Given the description of an element on the screen output the (x, y) to click on. 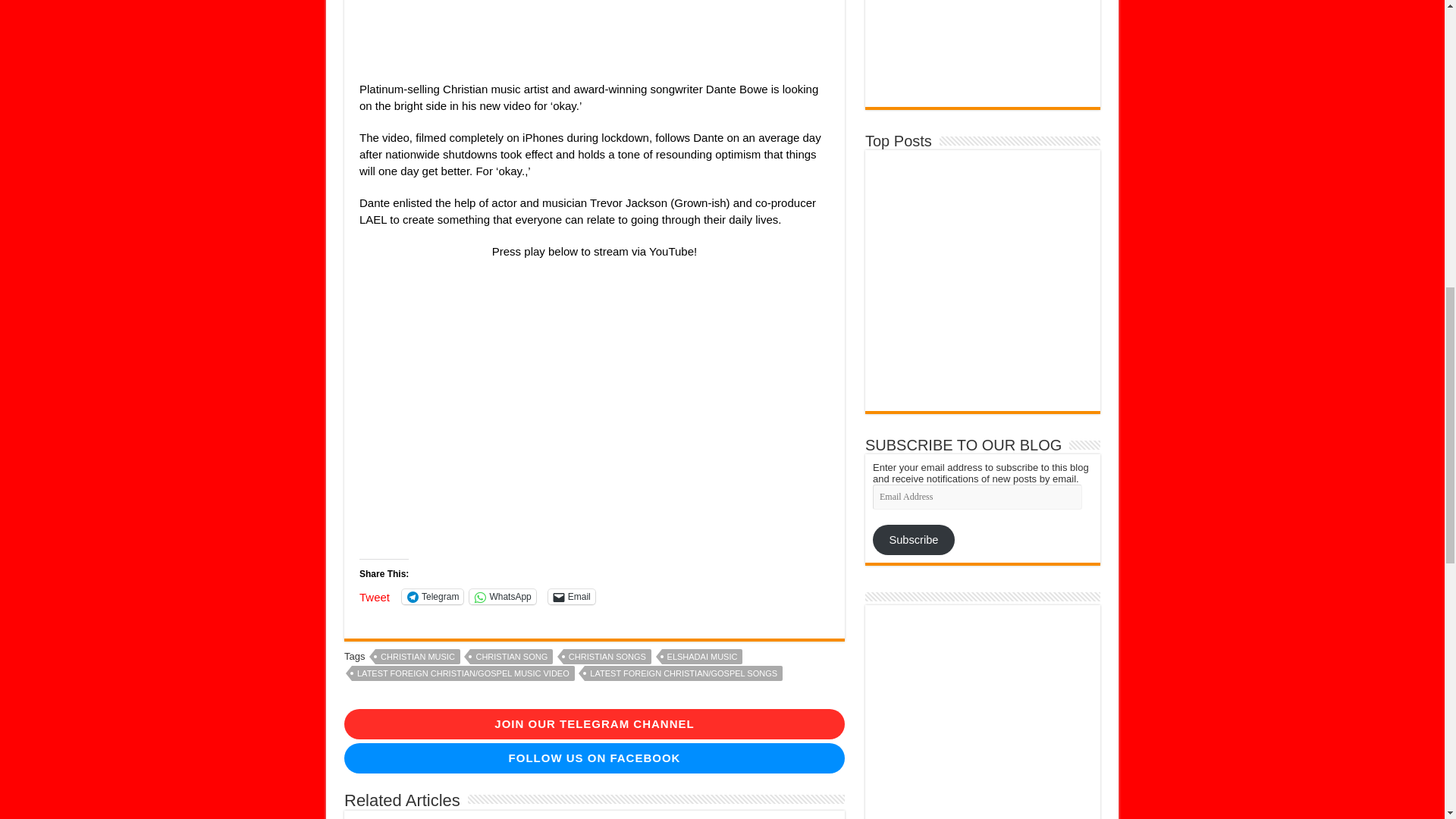
WhatsApp (501, 596)
Chandler Moore's New Release - 'I Have A Father' (1038, 174)
ELSHADAI MUSIC (702, 656)
Click to share on WhatsApp (501, 596)
Chandler Moore's New Release - 'Omemma' (1036, 211)
JOIN OUR TELEGRAM CHANNEL (593, 724)
CHRISTIAN SONG (511, 656)
Click to email a link to a friend (571, 596)
Telegram (432, 596)
Tweet (374, 595)
